Given the description of an element on the screen output the (x, y) to click on. 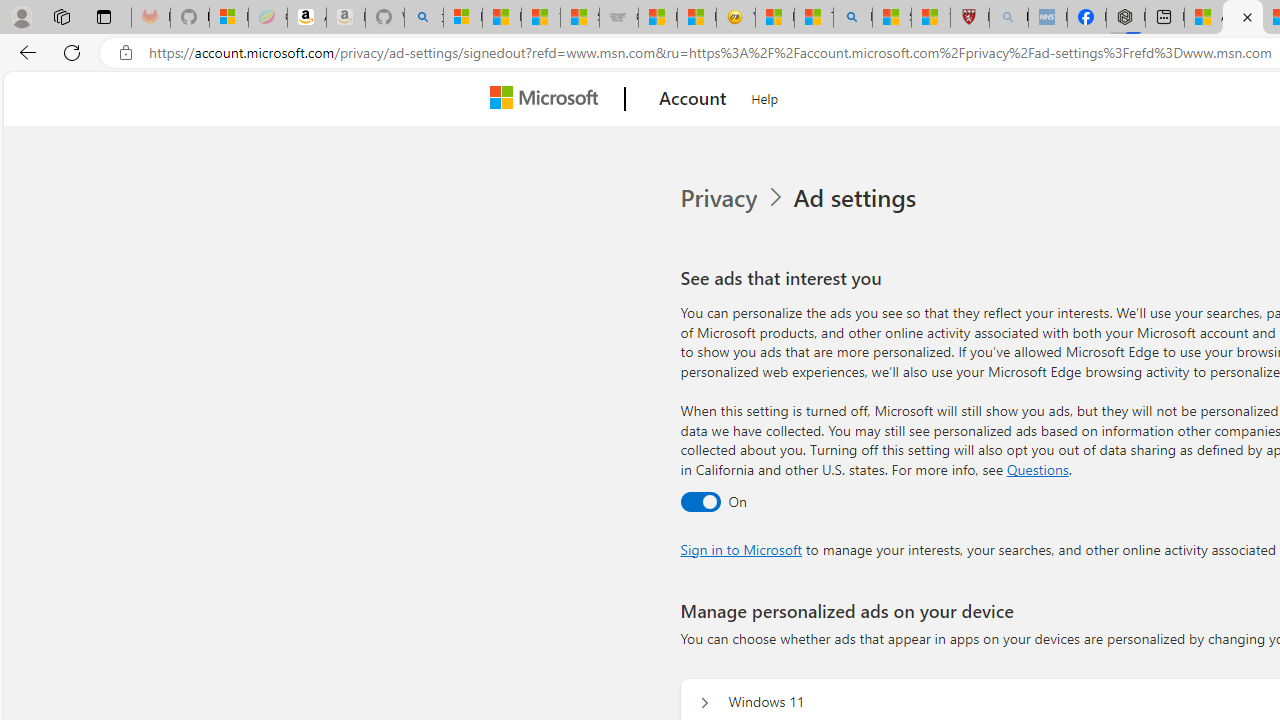
Ad settings (858, 197)
Recipes - MSN (774, 17)
Microsoft (548, 99)
Ad settings toggle (699, 501)
